Given the description of an element on the screen output the (x, y) to click on. 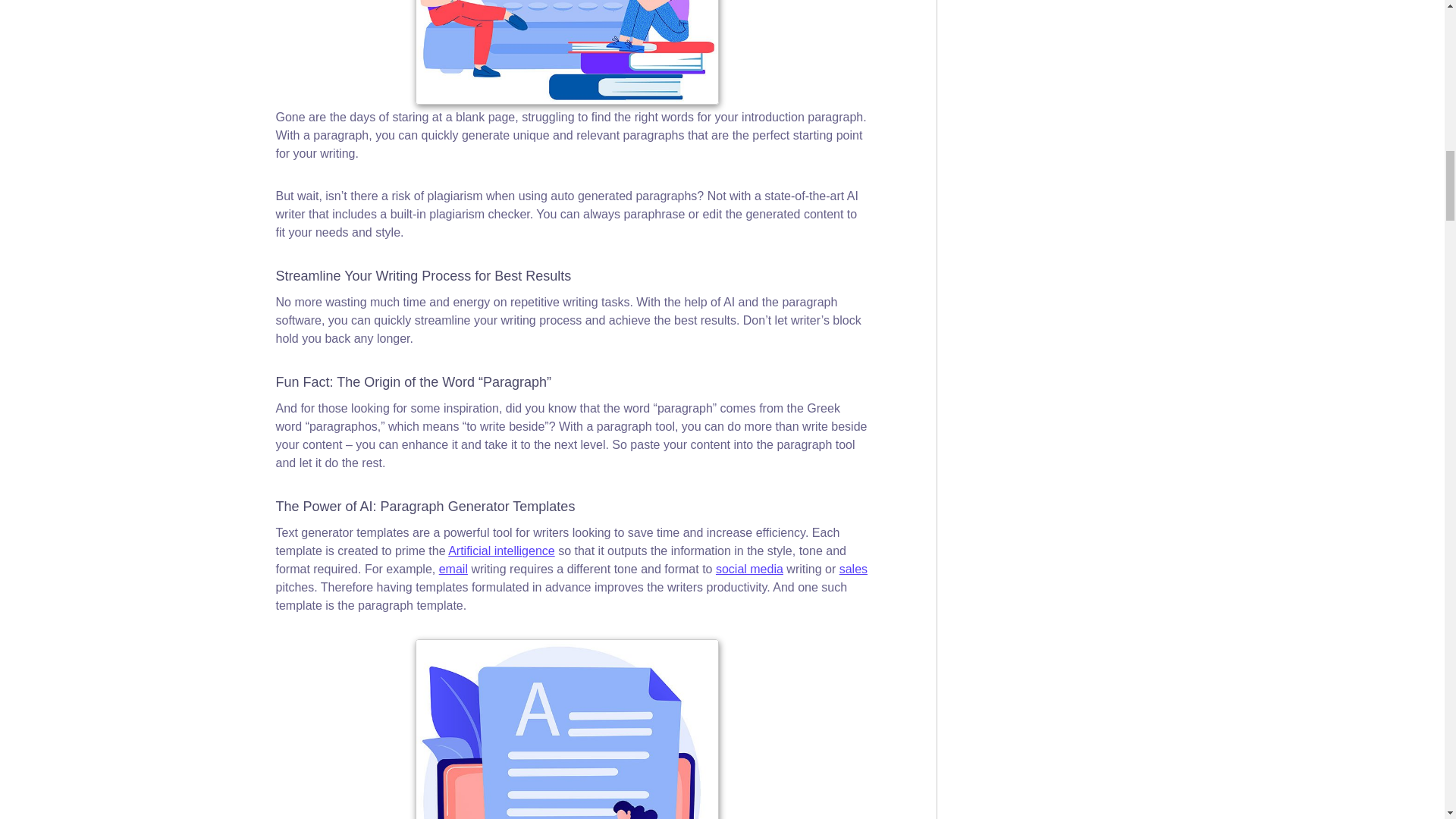
email (453, 568)
sales (853, 568)
social media (749, 568)
Artificial intelligence (501, 550)
